Given the description of an element on the screen output the (x, y) to click on. 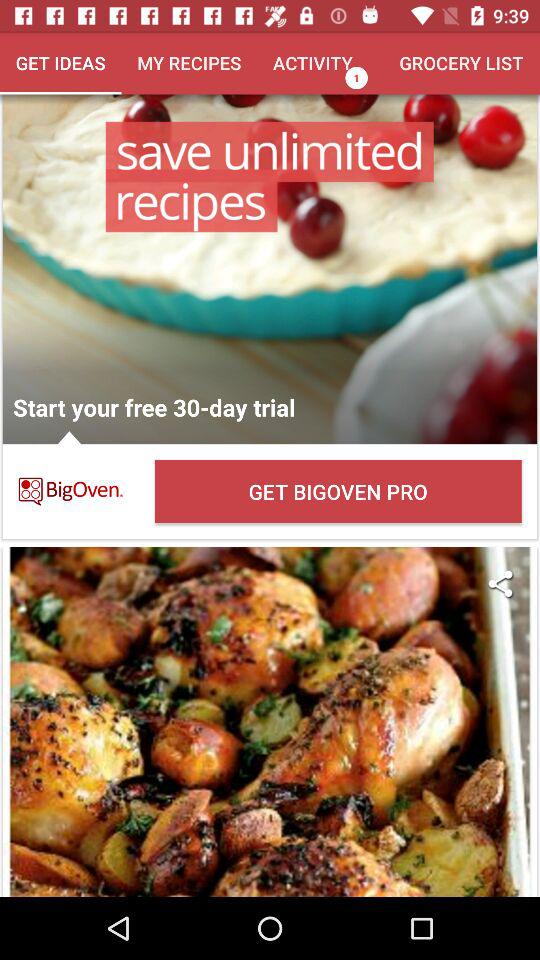
go to the recipe picture (269, 722)
